Given the description of an element on the screen output the (x, y) to click on. 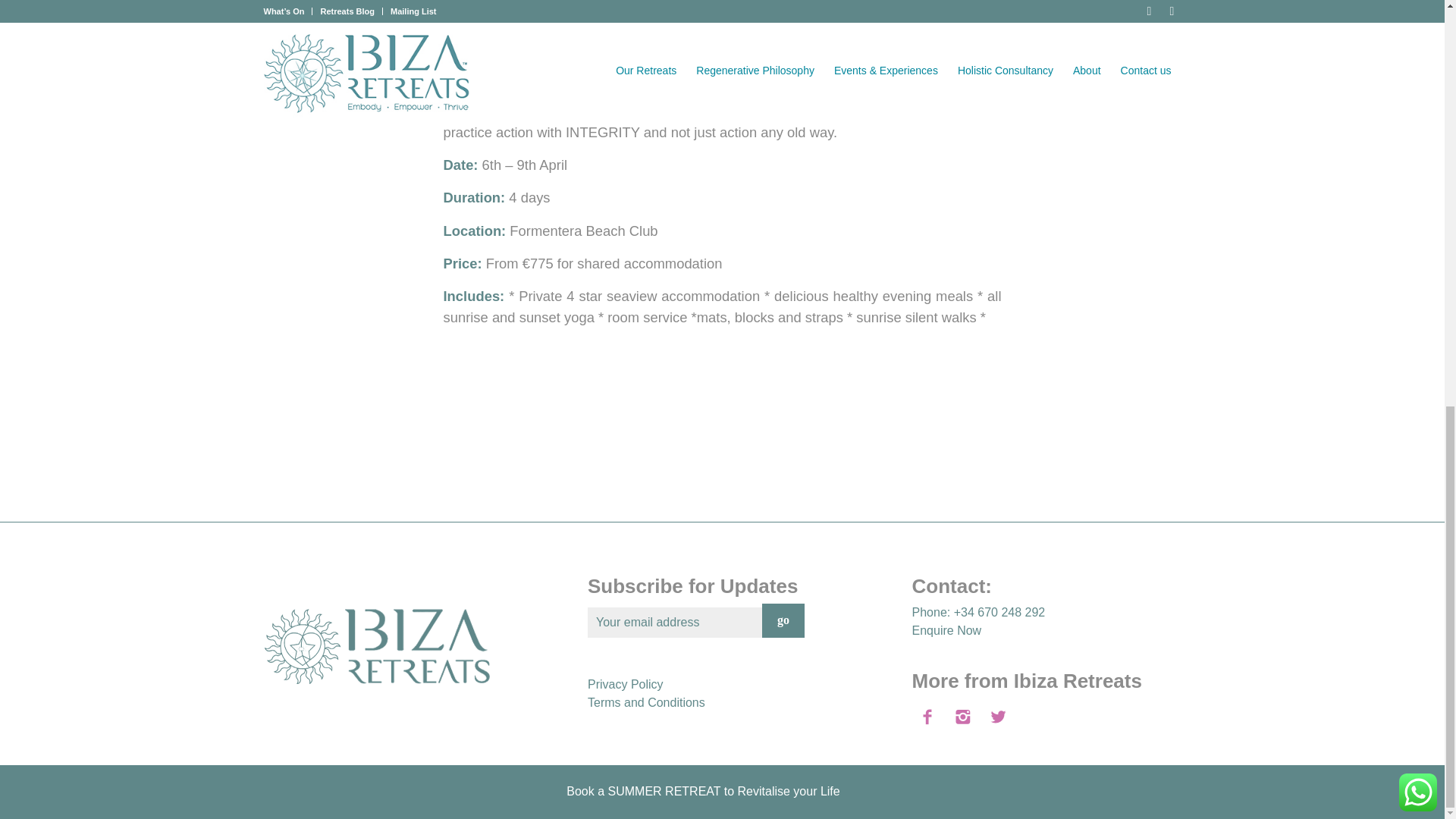
Privacy Policy (625, 684)
WhatsApp us (1418, 2)
go (783, 620)
Instagram (1169, 796)
Terms and Conditions (646, 702)
go (783, 620)
Enquire Now (946, 630)
Jax formentera may05 small for newsletter (560, 54)
Facebook (1146, 796)
